Given the description of an element on the screen output the (x, y) to click on. 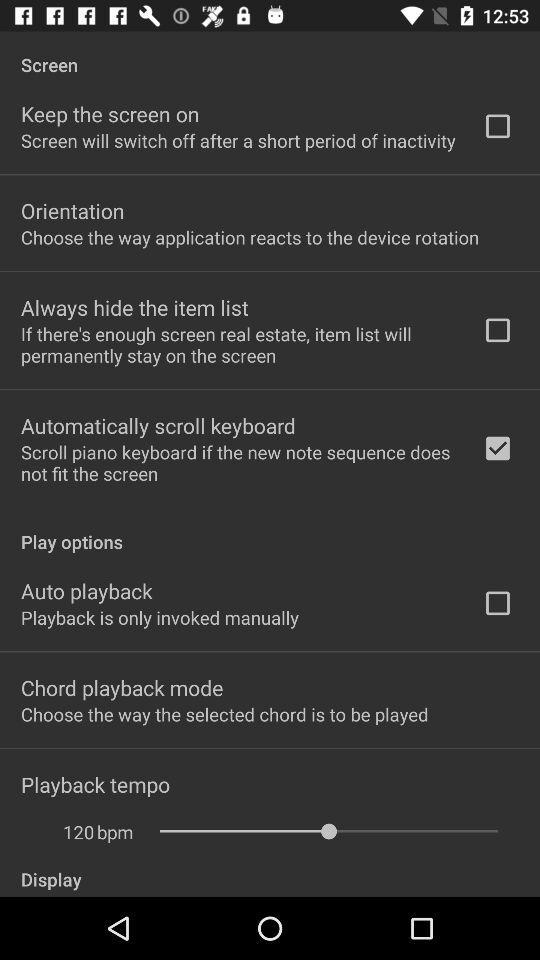
jump to the 120 (68, 831)
